Given the description of an element on the screen output the (x, y) to click on. 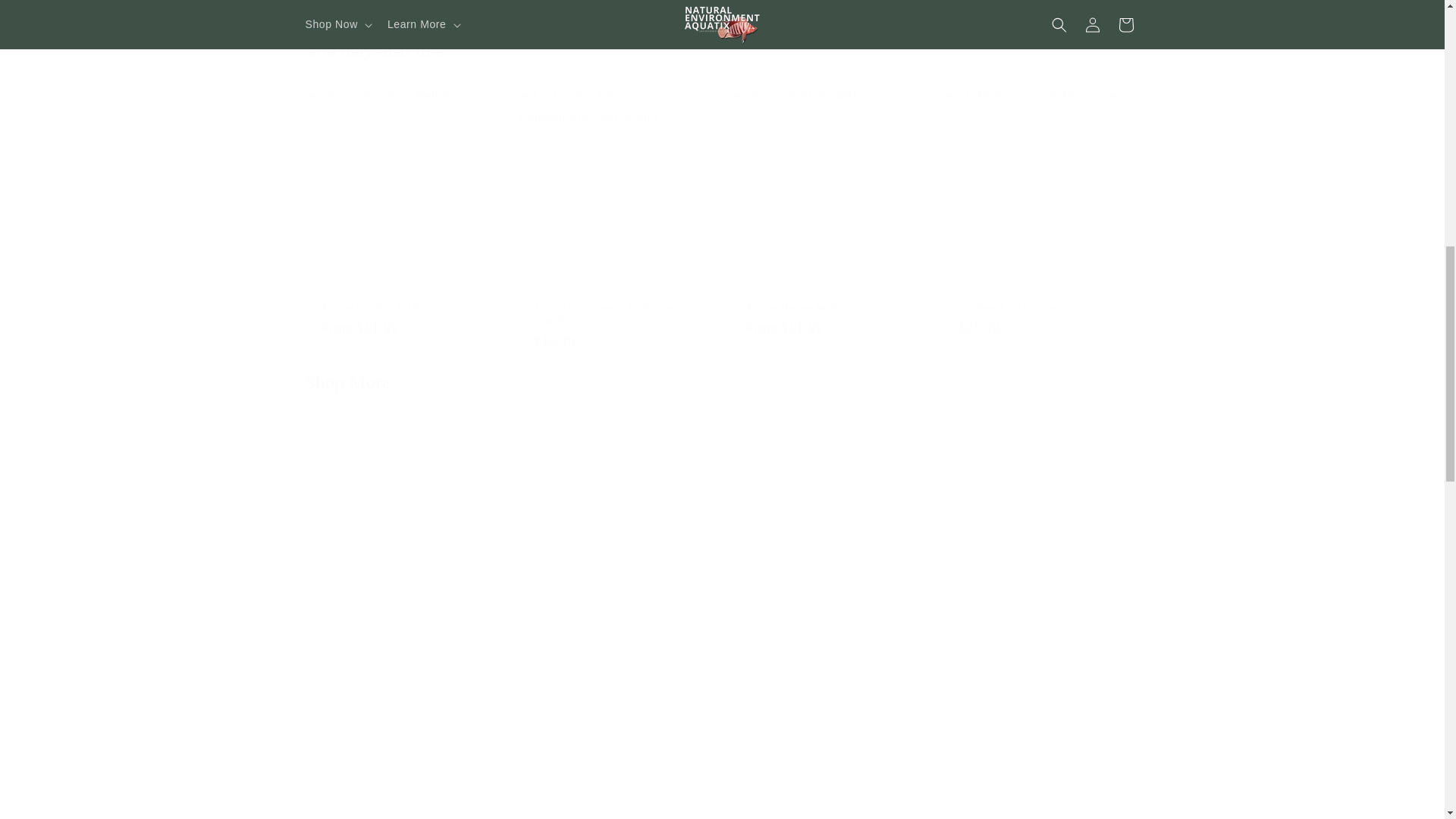
Turtles (722, 796)
Shop More (347, 382)
New Arrivals (438, 796)
